Given the description of an element on the screen output the (x, y) to click on. 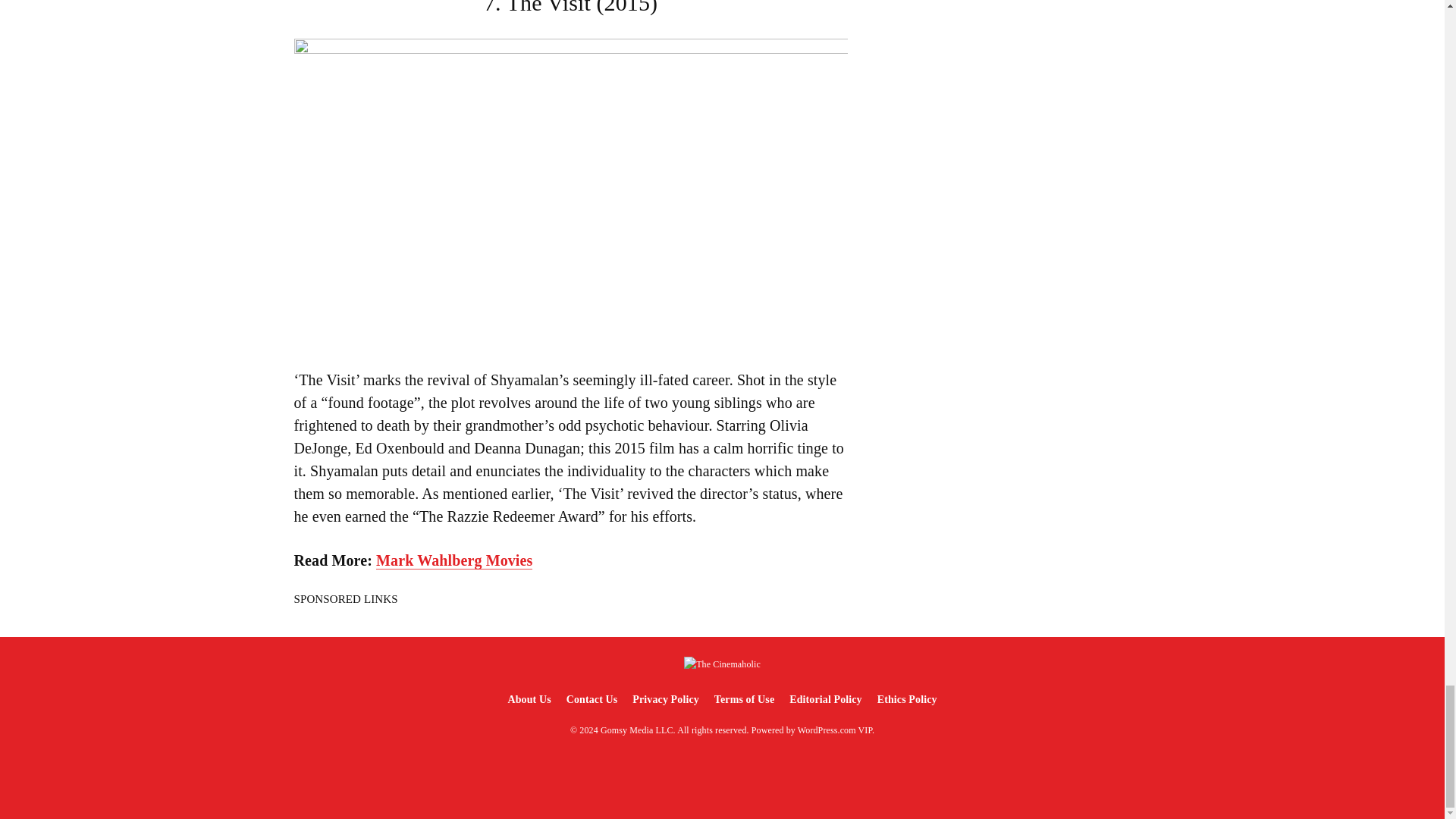
Ethics Policy (906, 699)
Contact Us (592, 699)
Editorial Policy (825, 699)
WordPress.com VIP (834, 729)
About Us (528, 699)
Privacy Policy (665, 699)
Mark Wahlberg Movies (453, 560)
Terms of Use (743, 699)
